Given the description of an element on the screen output the (x, y) to click on. 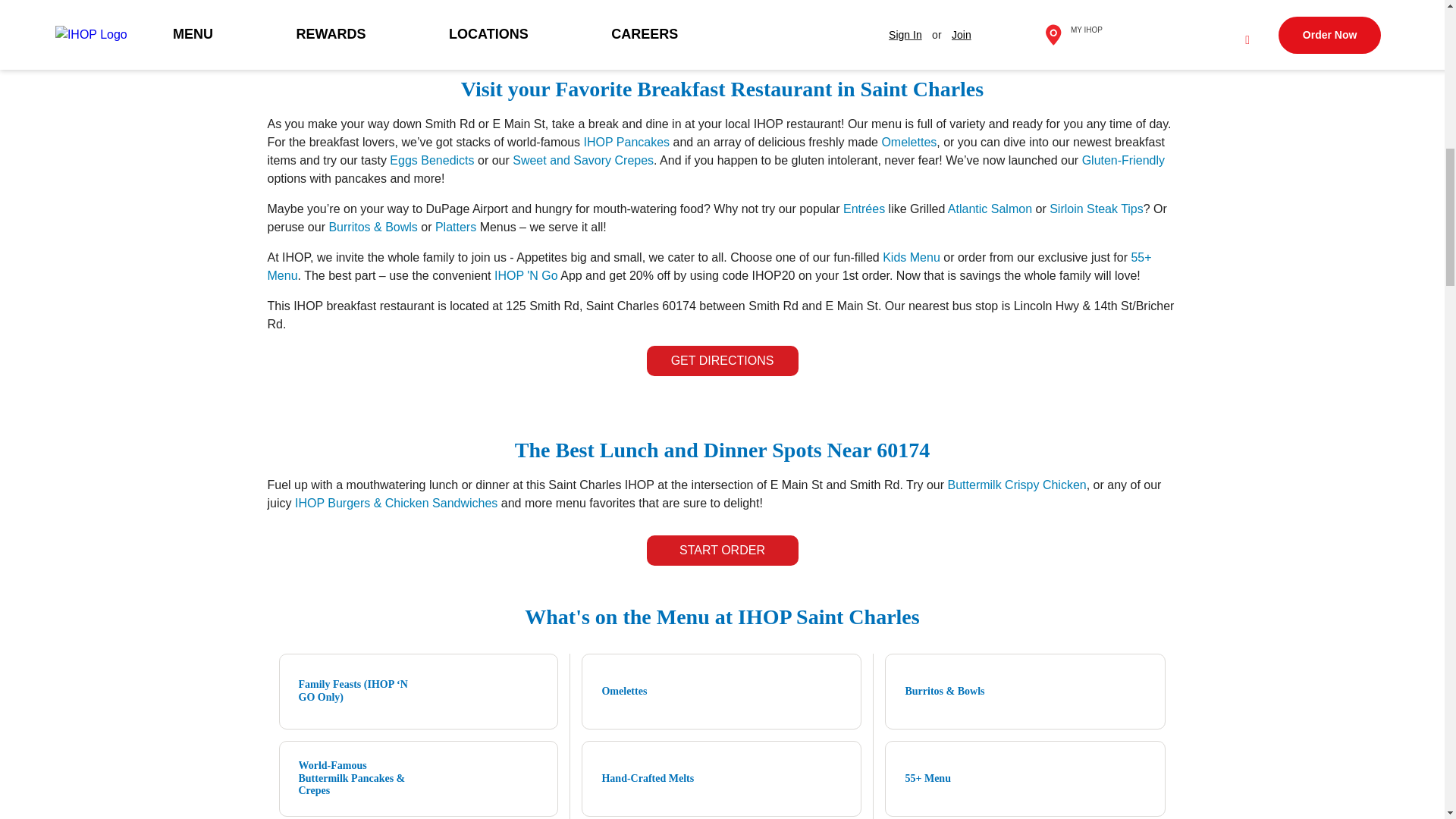
LOCATIONS (387, 28)
Eggs Benedicts (432, 160)
Sweet and Savory Crepes (582, 160)
Omelettes (908, 141)
IHOP Pancakes (626, 141)
ILLINOIS (473, 28)
HOME (297, 28)
SAINT CHARLES (573, 28)
